Given the description of an element on the screen output the (x, y) to click on. 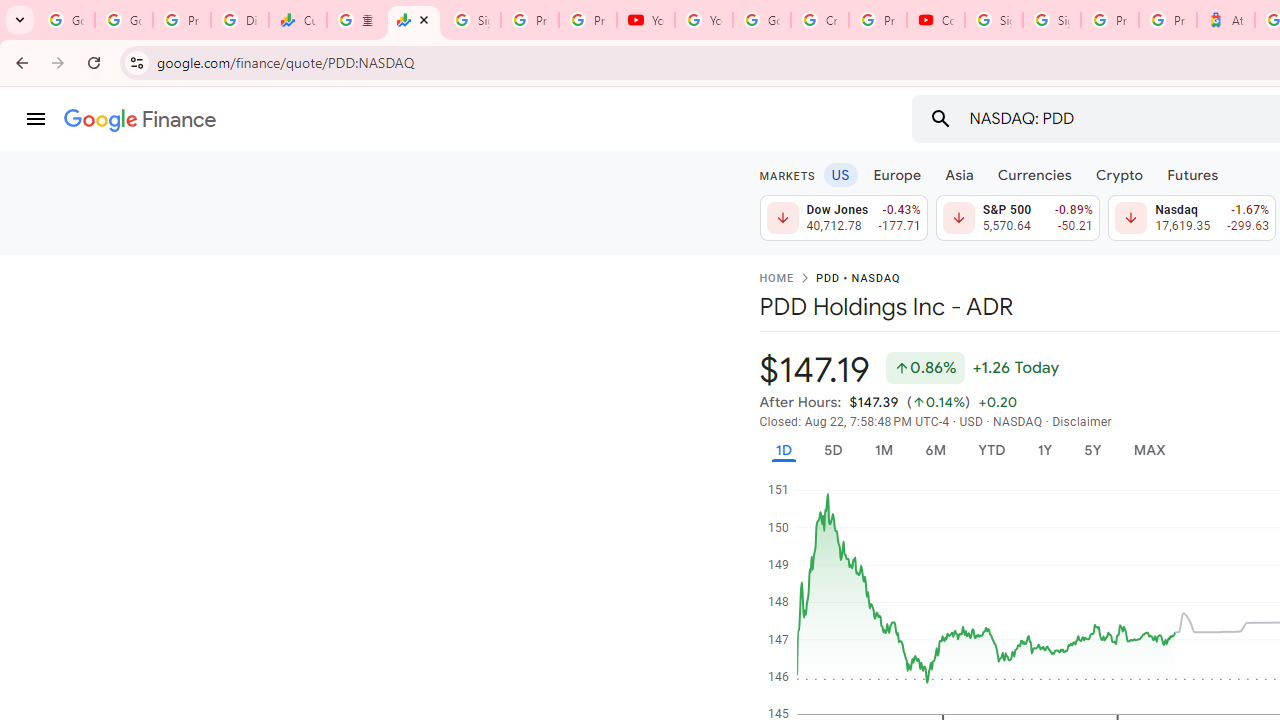
1Y (1044, 449)
Content Creator Programs & Opportunities - YouTube Creators (936, 20)
Disclaimer (1082, 421)
Atour Hotel - Google hotels (1225, 20)
6M (934, 449)
Sign in - Google Accounts (471, 20)
Privacy Checkup (587, 20)
